Given the description of an element on the screen output the (x, y) to click on. 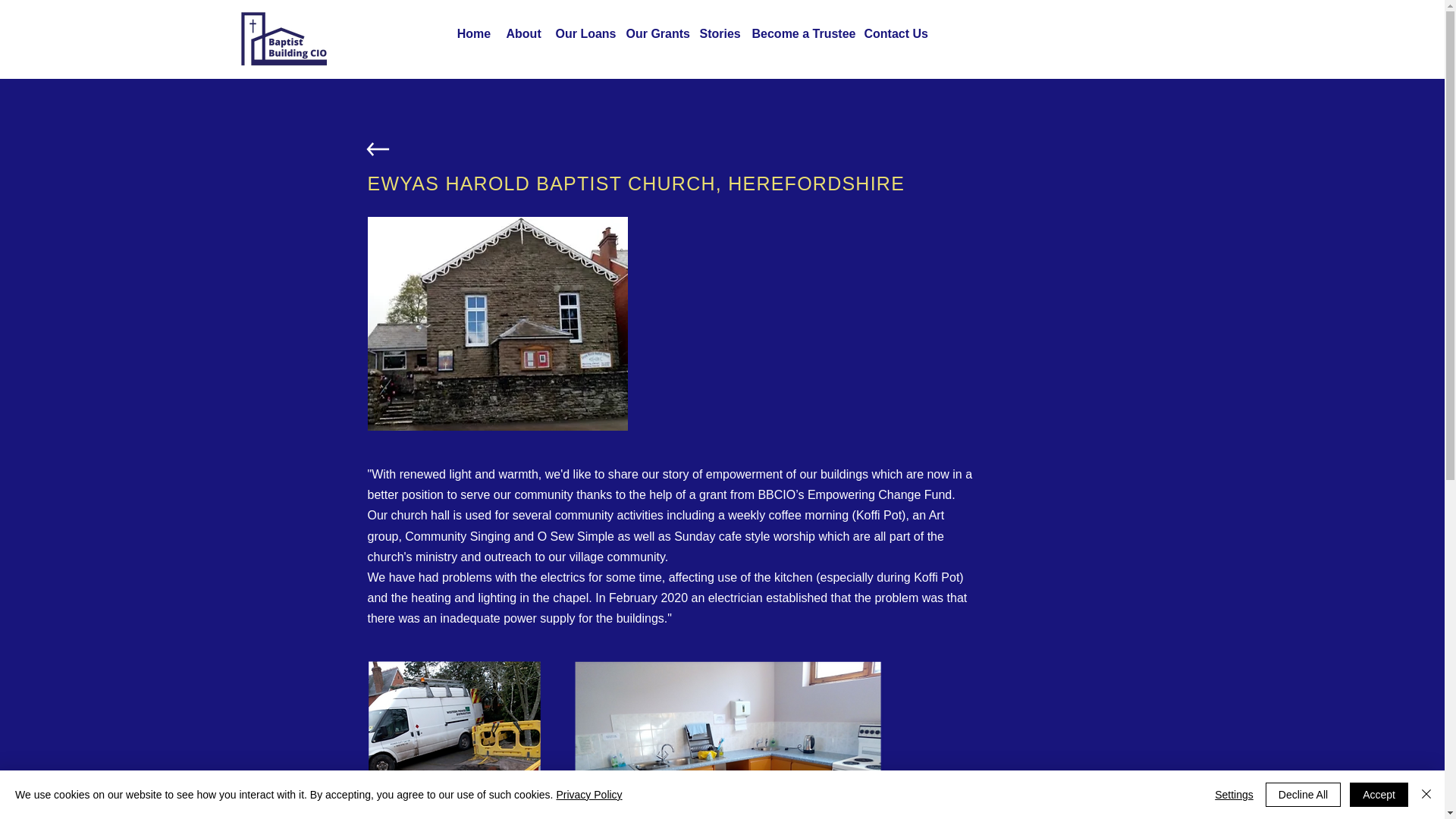
Contact Us (894, 34)
Home (472, 34)
Accept (1378, 794)
Decline All (1302, 794)
Become a Trustee (800, 34)
Stories (717, 34)
Our Loans (582, 34)
About (523, 34)
Our Grants (655, 34)
Privacy Policy (588, 794)
